Given the description of an element on the screen output the (x, y) to click on. 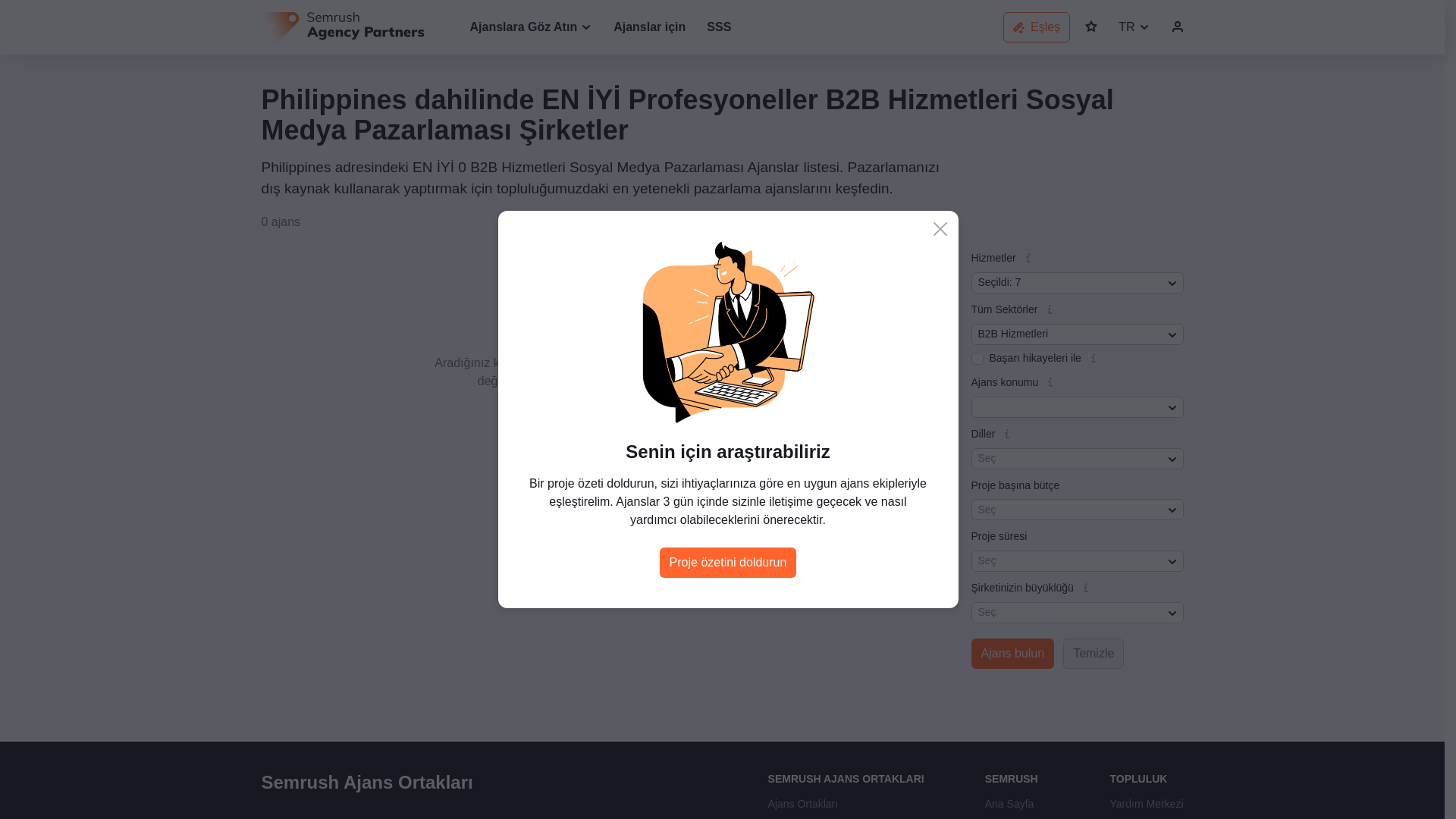
Close (940, 229)
